Given the description of an element on the screen output the (x, y) to click on. 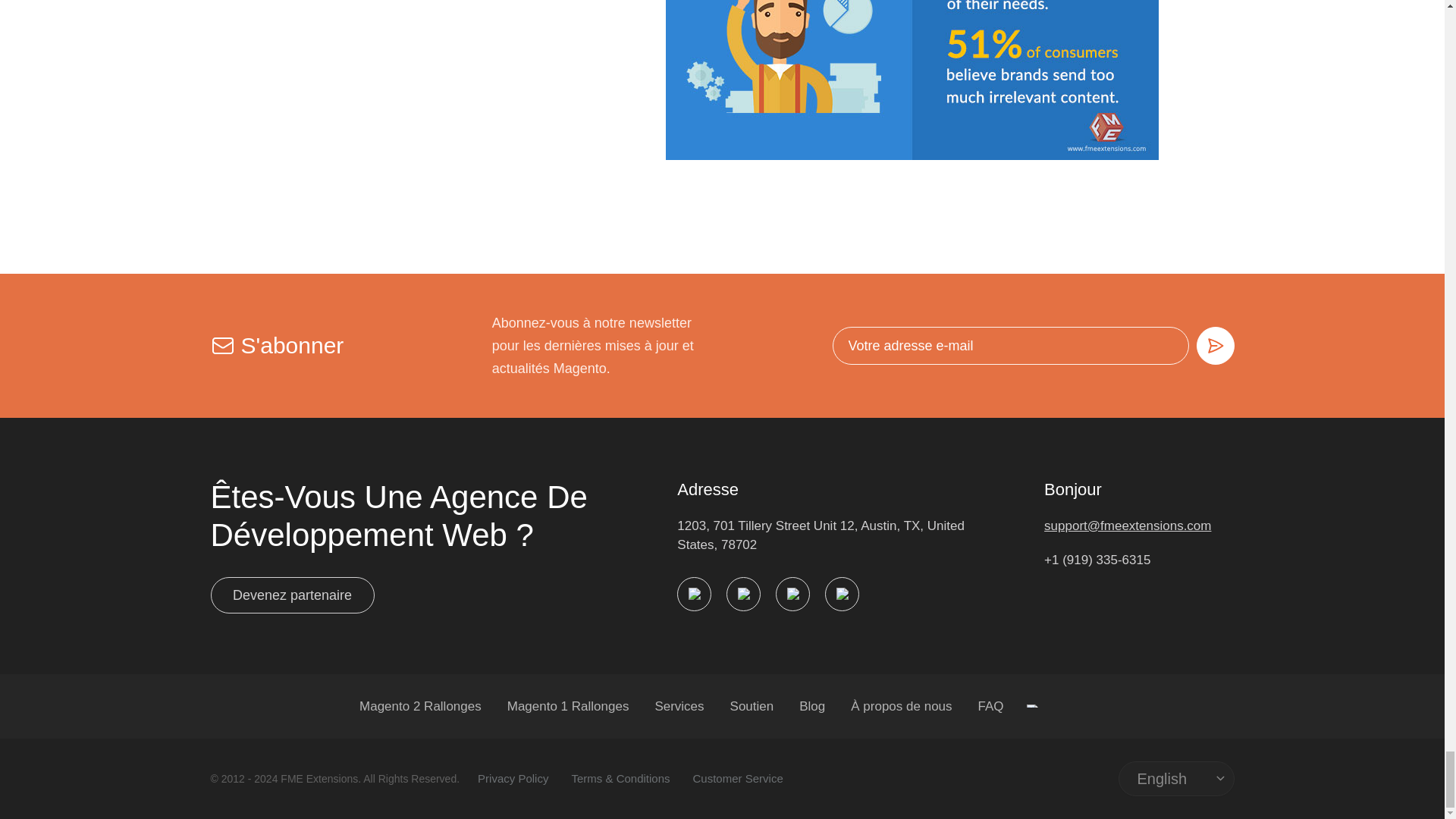
Magento 1 Rallonges (567, 706)
Services (678, 706)
Devenez partenaire (292, 595)
FAQ (991, 706)
Blog (812, 706)
Soutien (752, 706)
Magento 2 Rallonges (420, 706)
Customer Service (738, 778)
Privacy Policy (512, 778)
